Given the description of an element on the screen output the (x, y) to click on. 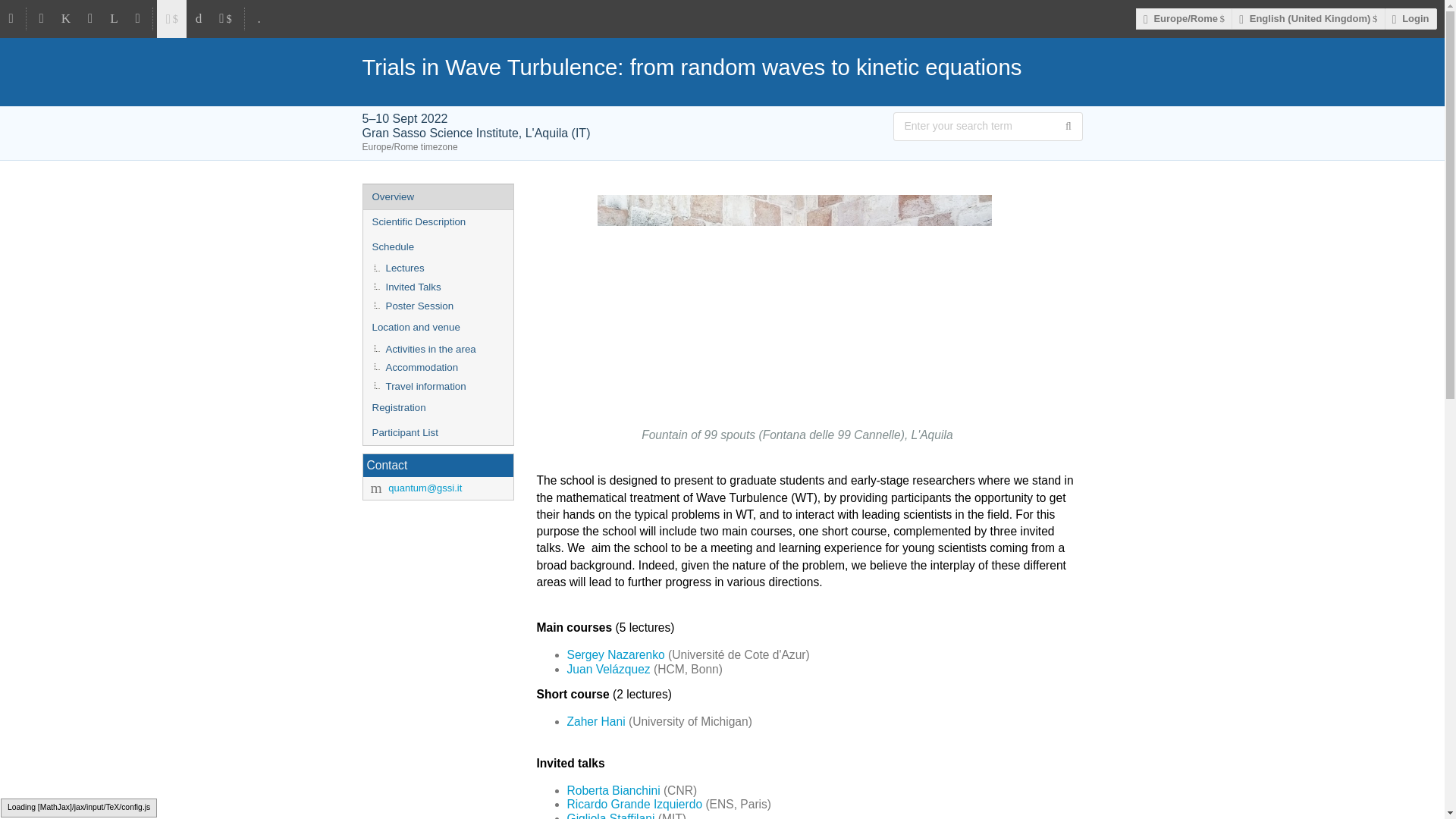
Poster Session (437, 306)
Scientific Description (437, 222)
Schedule (437, 247)
Lectures (437, 268)
Overview (437, 197)
Location and venue (437, 327)
Login (1410, 19)
Accommodation (437, 367)
Invited Talks (437, 287)
Activities in the area (437, 349)
